Given the description of an element on the screen output the (x, y) to click on. 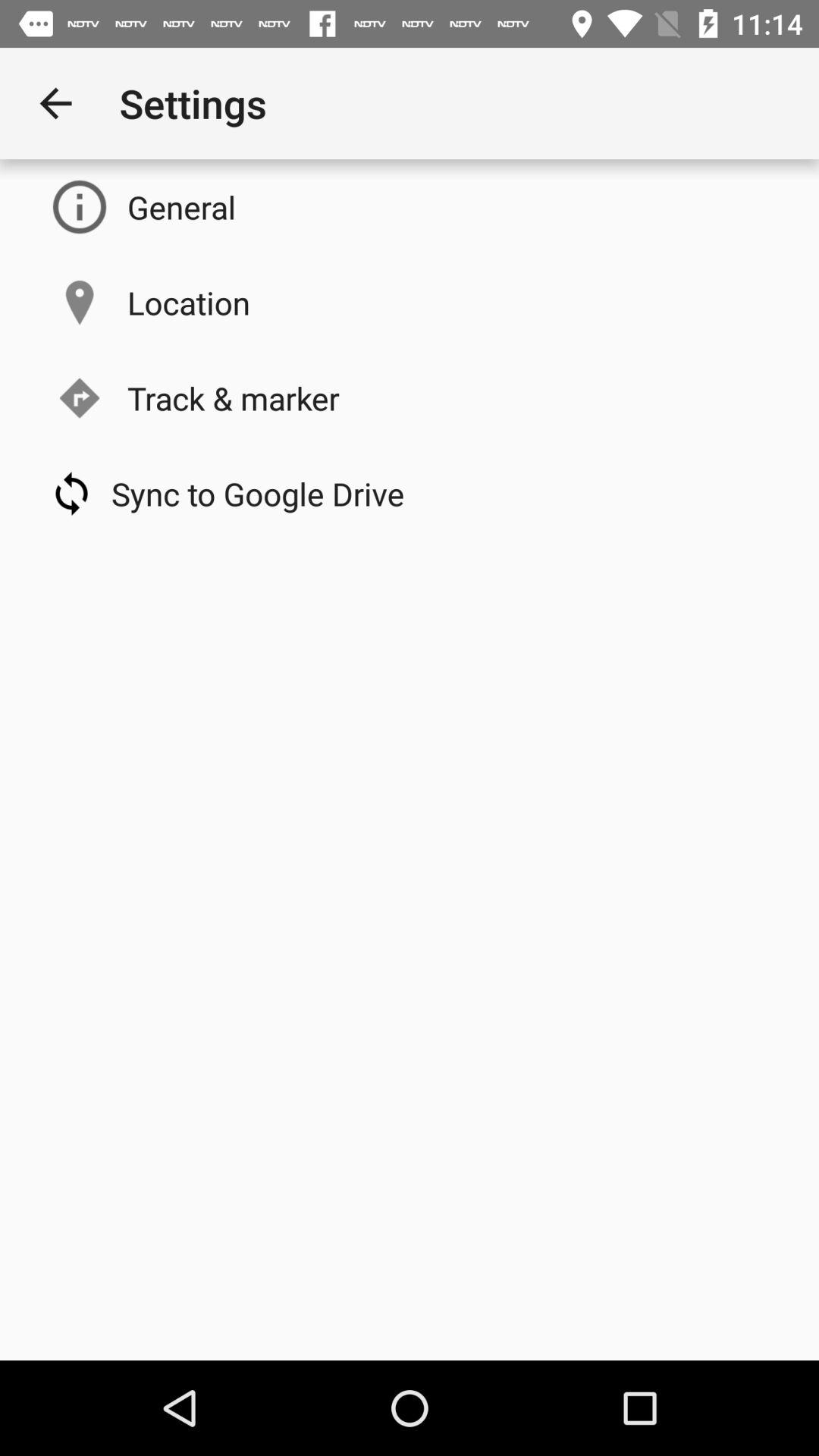
choose sync to google (257, 493)
